Given the description of an element on the screen output the (x, y) to click on. 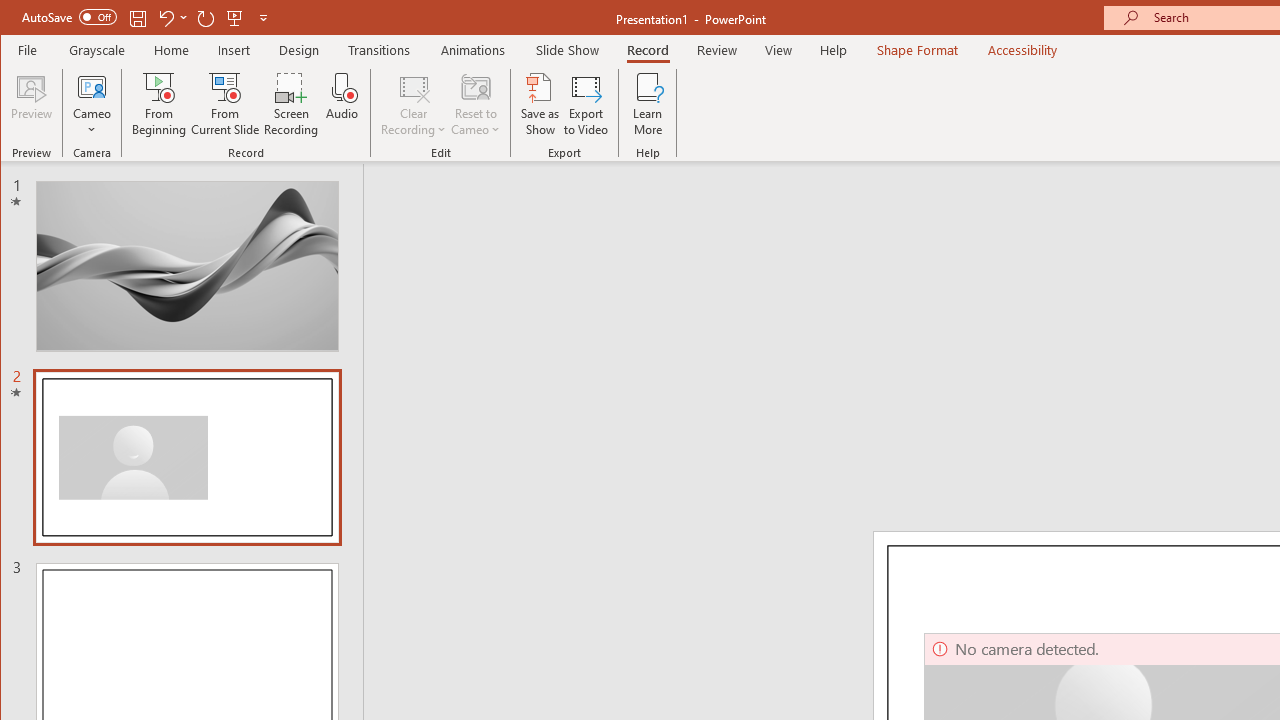
From Beginning... (159, 104)
From Current Slide... (225, 104)
Export to Video (585, 104)
Clear Recording (413, 104)
